Given the description of an element on the screen output the (x, y) to click on. 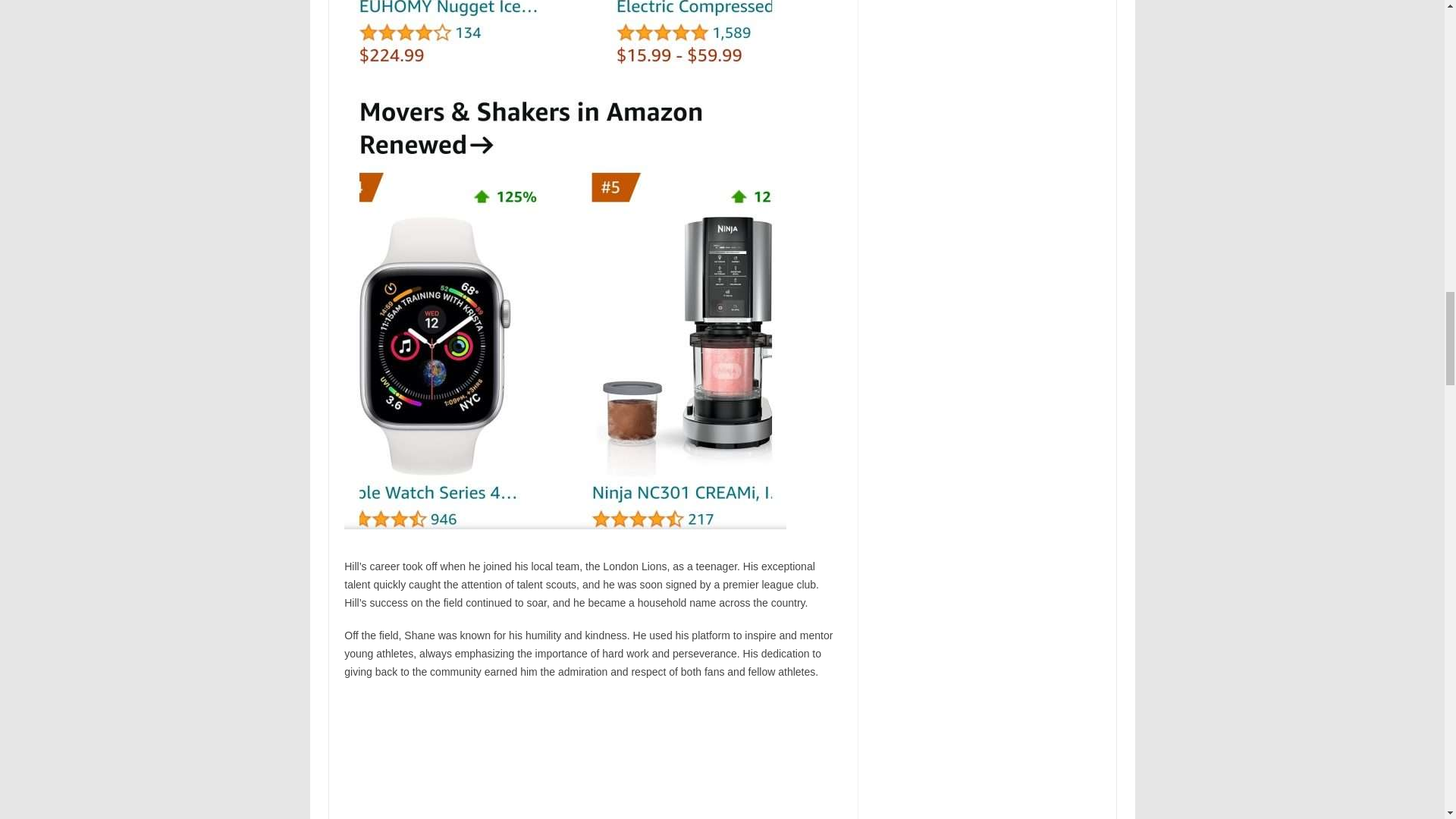
YouTube video player (555, 757)
